Given the description of an element on the screen output the (x, y) to click on. 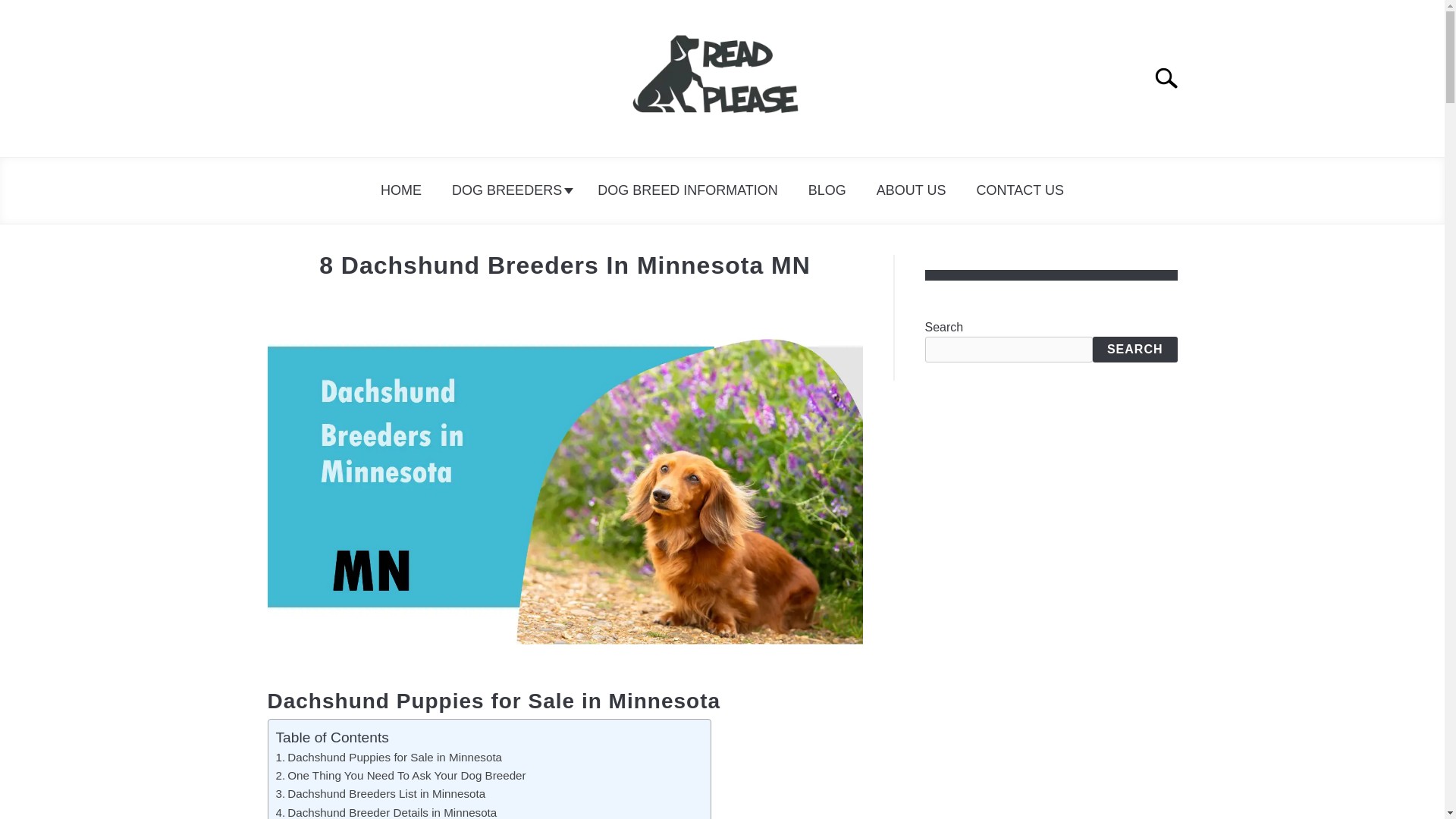
DOG BREEDERS (509, 190)
BLOG (827, 190)
DOG BREED INFORMATION (687, 190)
Dachshund Puppies for Sale in Minnesota (389, 757)
HOME (400, 190)
Dachshund Puppies for Sale in Minnesota (389, 757)
Dachshund Breeders List in Minnesota (381, 793)
Dachshund Breeder Details in Minnesota (386, 812)
Search (1172, 77)
One Thing You Need To Ask Your Dog Breeder (400, 775)
